Given the description of an element on the screen output the (x, y) to click on. 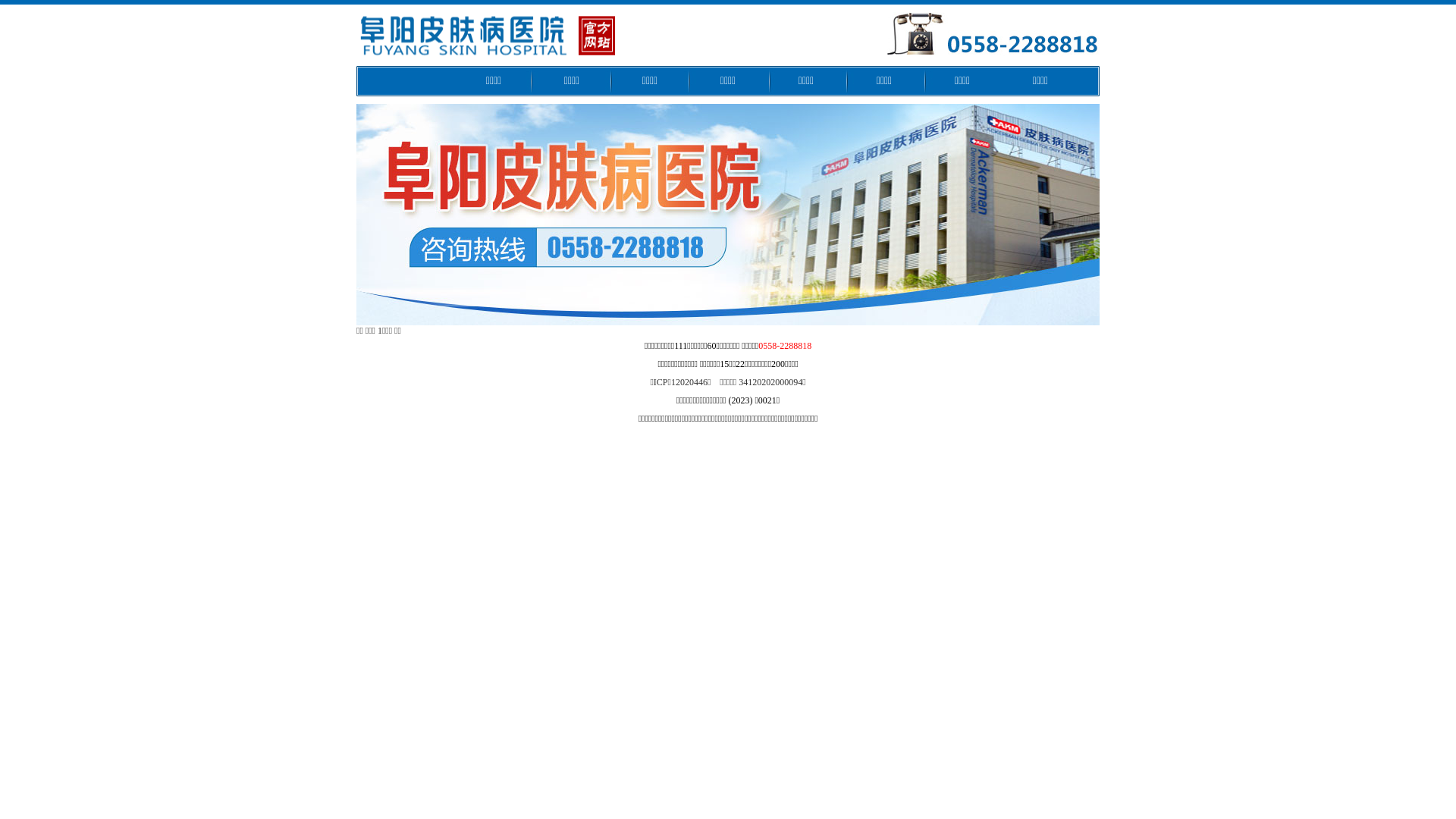
1 Element type: text (379, 330)
